Given the description of an element on the screen output the (x, y) to click on. 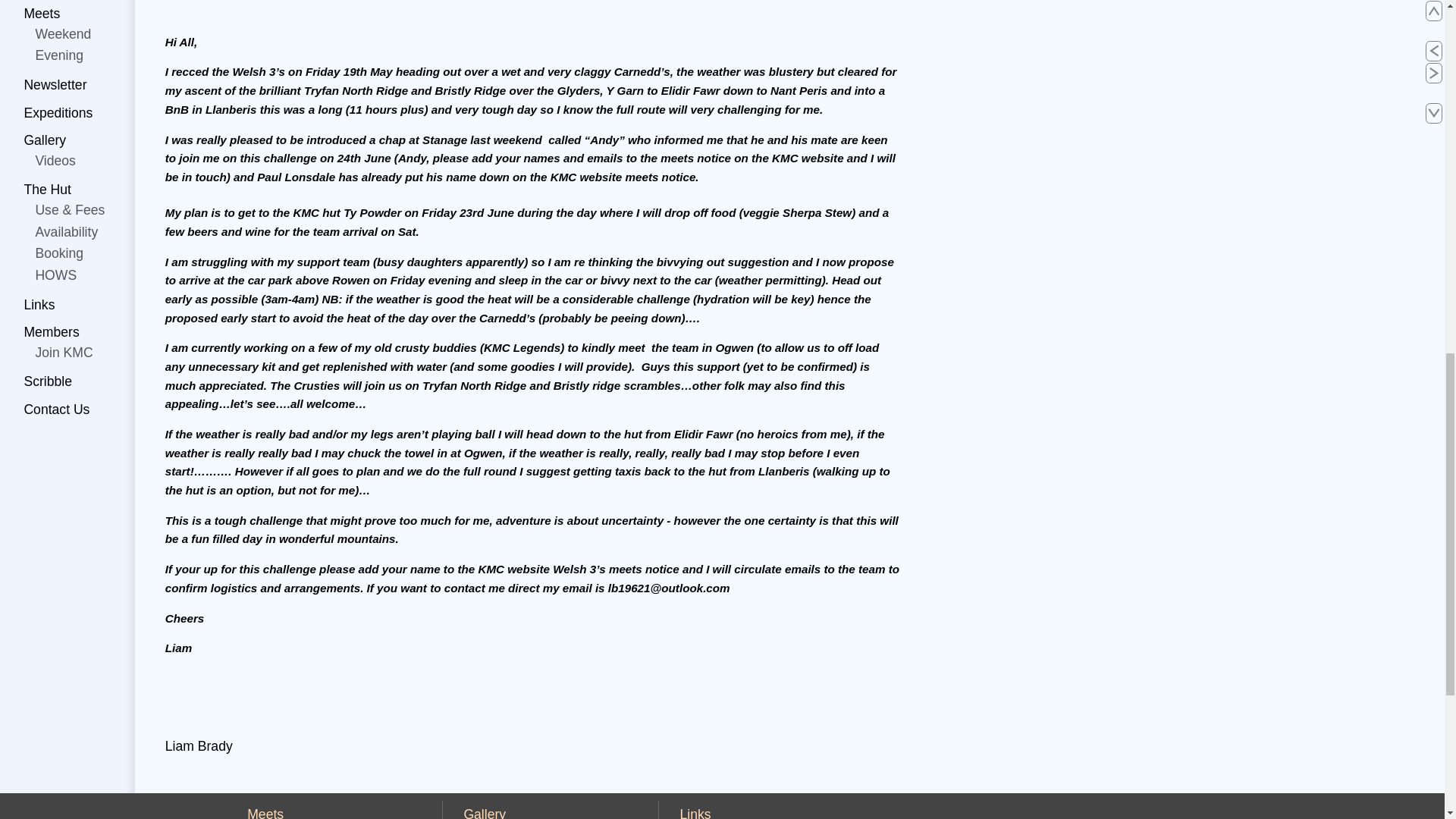
Meets (264, 812)
Gallery (484, 812)
Links (694, 812)
